Given the description of an element on the screen output the (x, y) to click on. 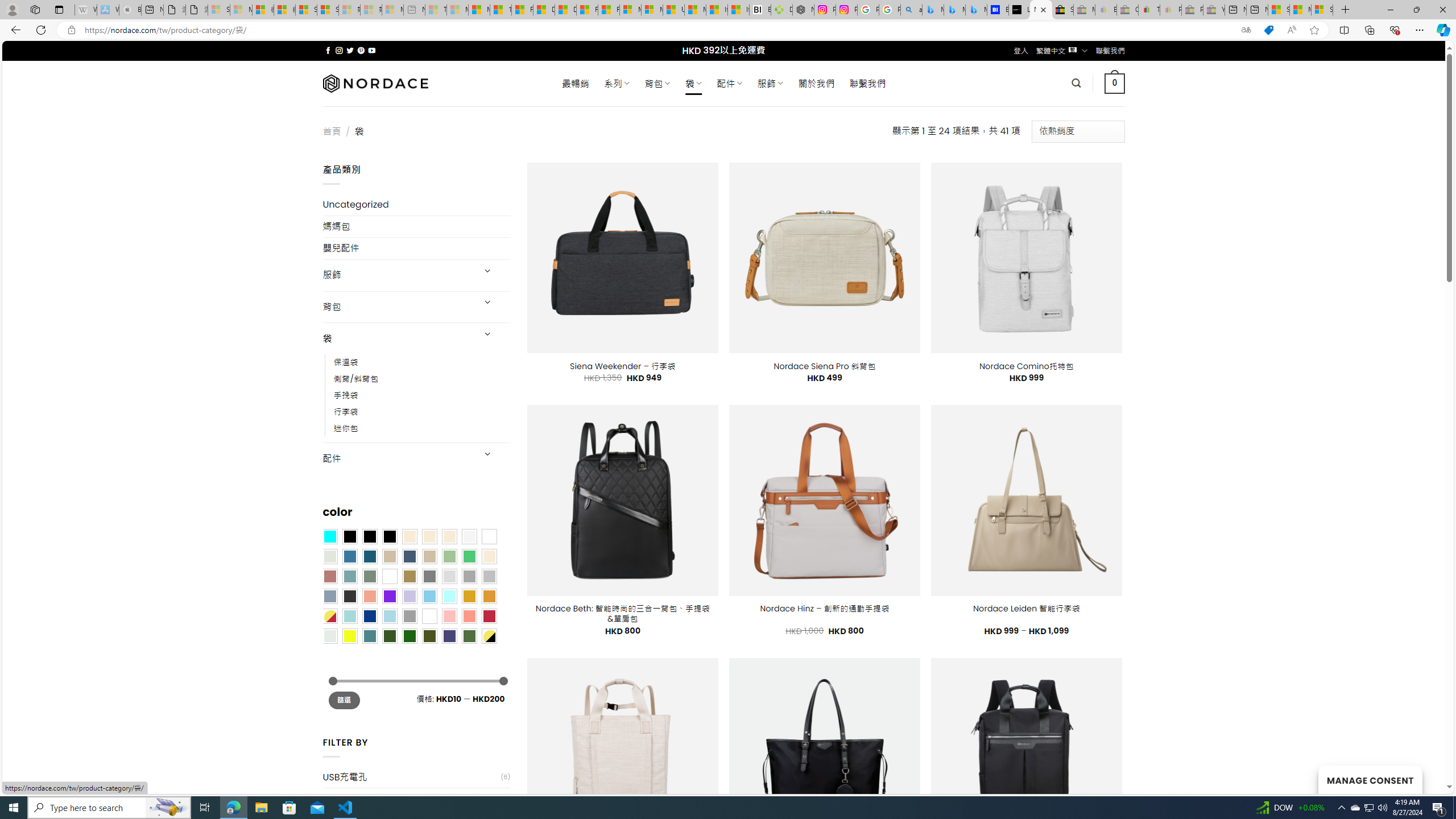
Nordace - Nordace Edin Collection (802, 9)
